Given the description of an element on the screen output the (x, y) to click on. 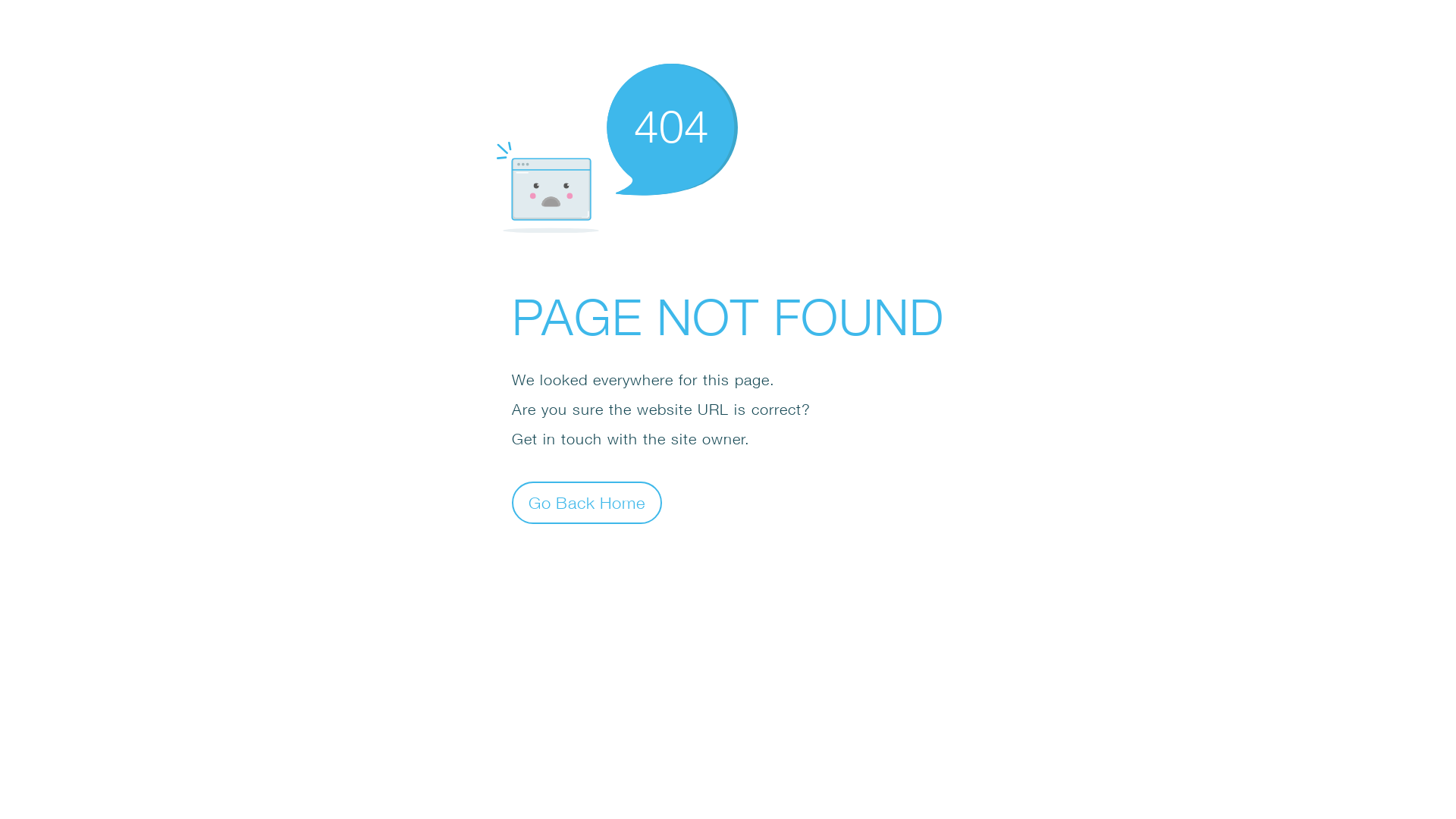
Go Back Home Element type: text (586, 502)
